Given the description of an element on the screen output the (x, y) to click on. 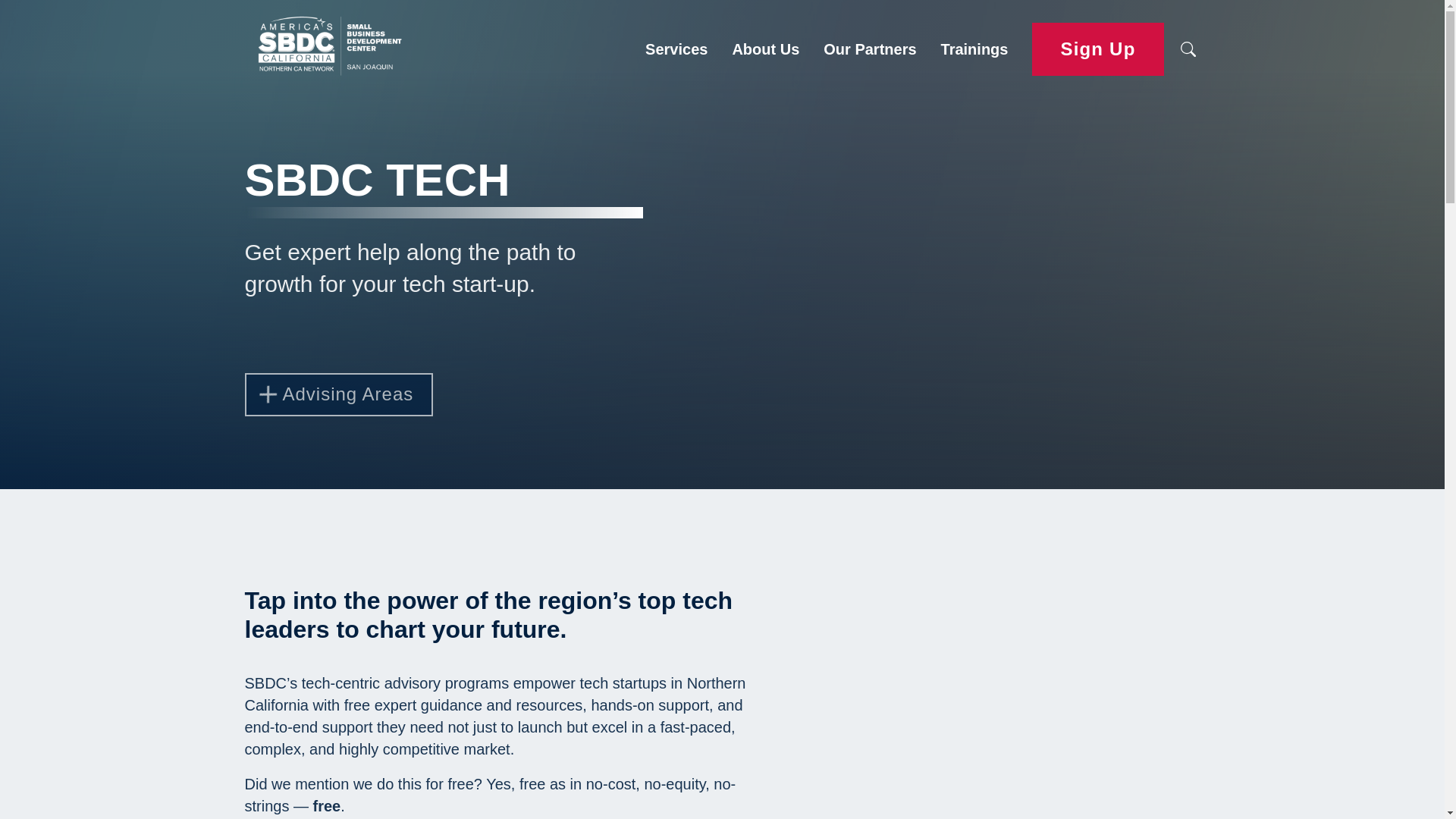
Trainings (974, 49)
Sign Up (1097, 49)
About Us (764, 49)
Our Partners (869, 49)
